Given the description of an element on the screen output the (x, y) to click on. 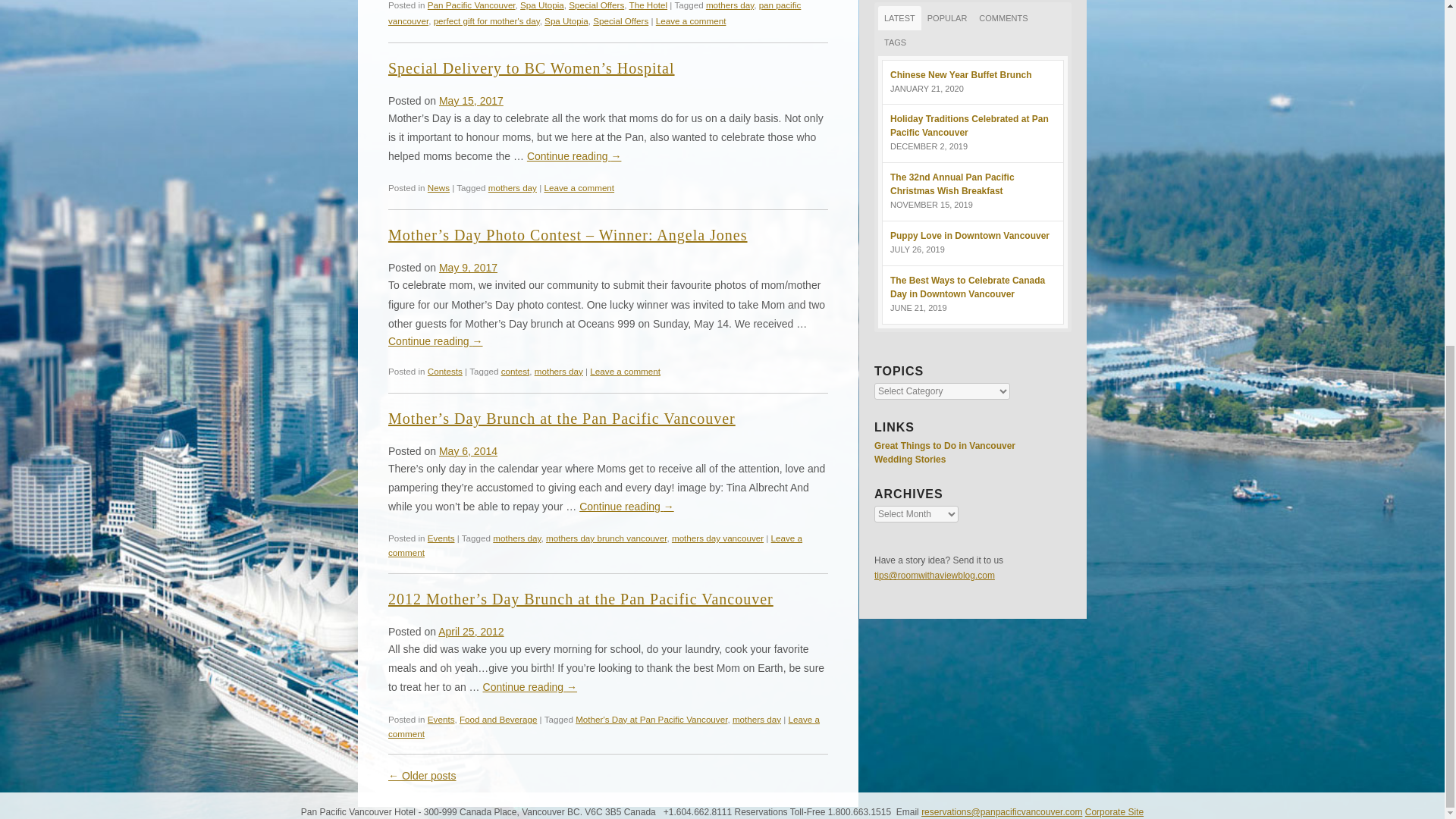
Chinese New Year Buffet Brunch (960, 74)
6:23 pm (471, 101)
2:33 pm (470, 631)
1:09 pm (468, 267)
The Hotel (648, 4)
Spa Utopia (541, 4)
Special Offers (596, 4)
Pan Pacific Vancouver (471, 4)
10:32 pm (468, 451)
